Given the description of an element on the screen output the (x, y) to click on. 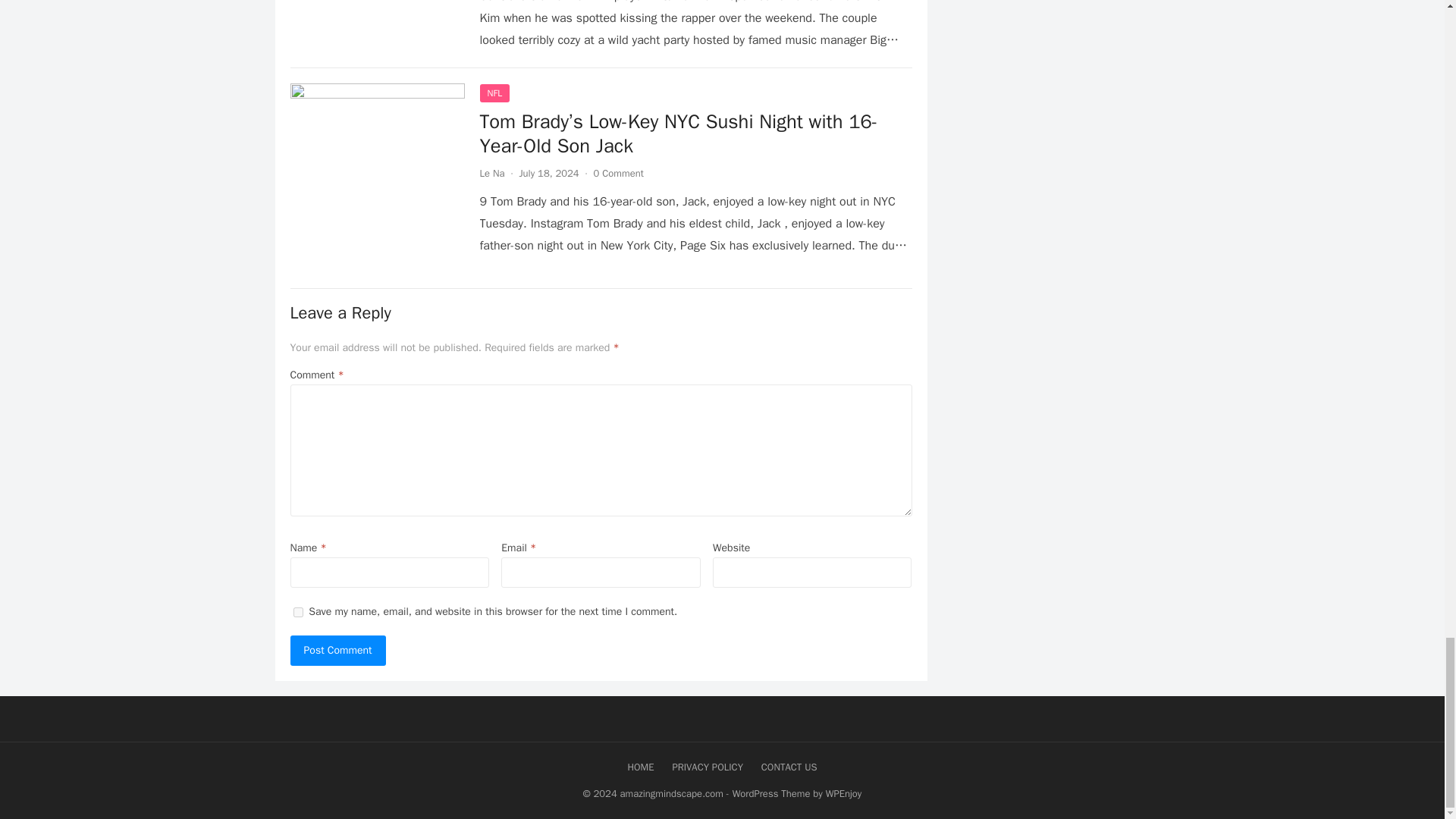
yes (297, 612)
Post Comment (337, 650)
Posts by Le Na (491, 173)
